Given the description of an element on the screen output the (x, y) to click on. 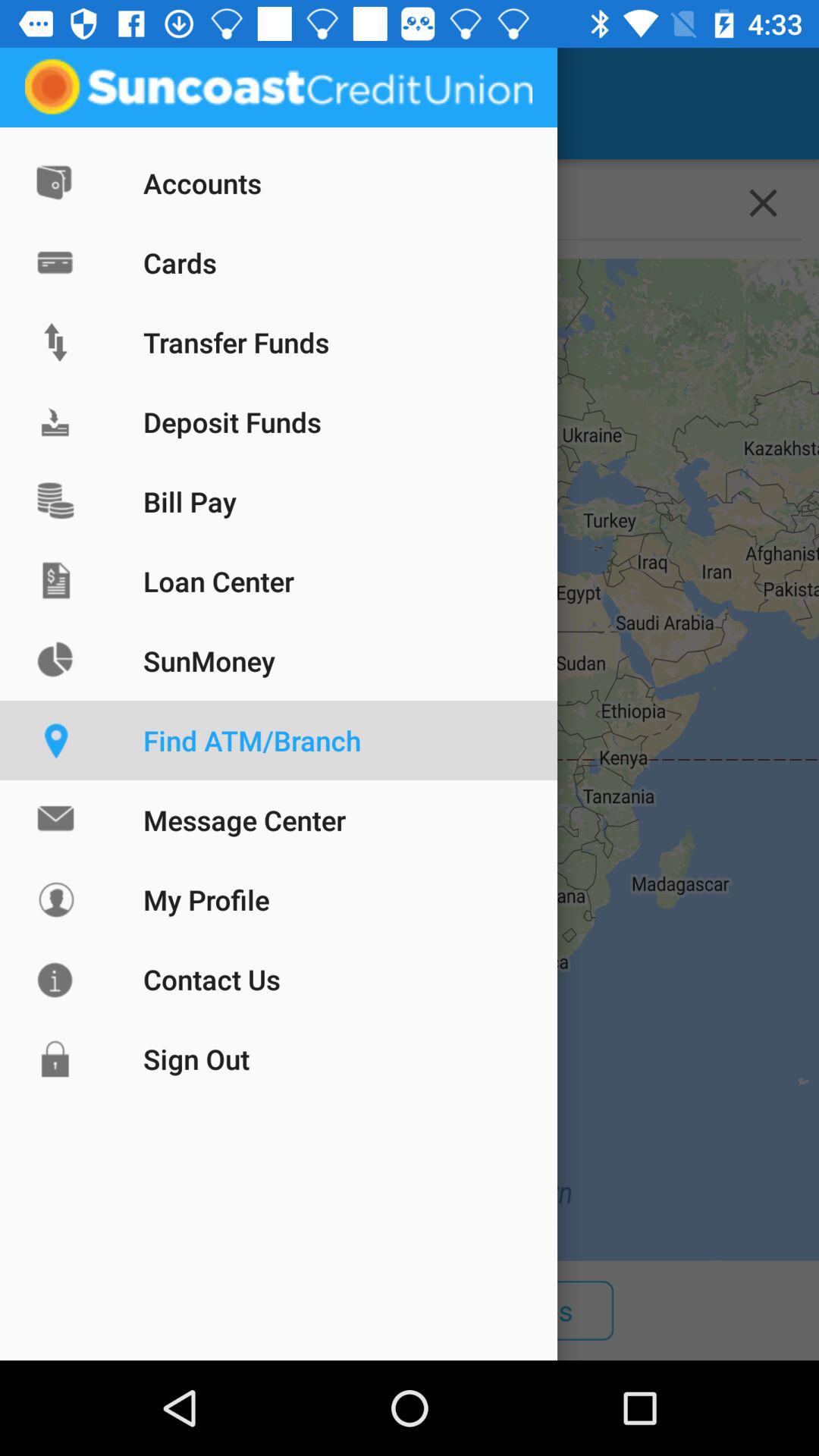
choose the icon above all item (409, 759)
